Given the description of an element on the screen output the (x, y) to click on. 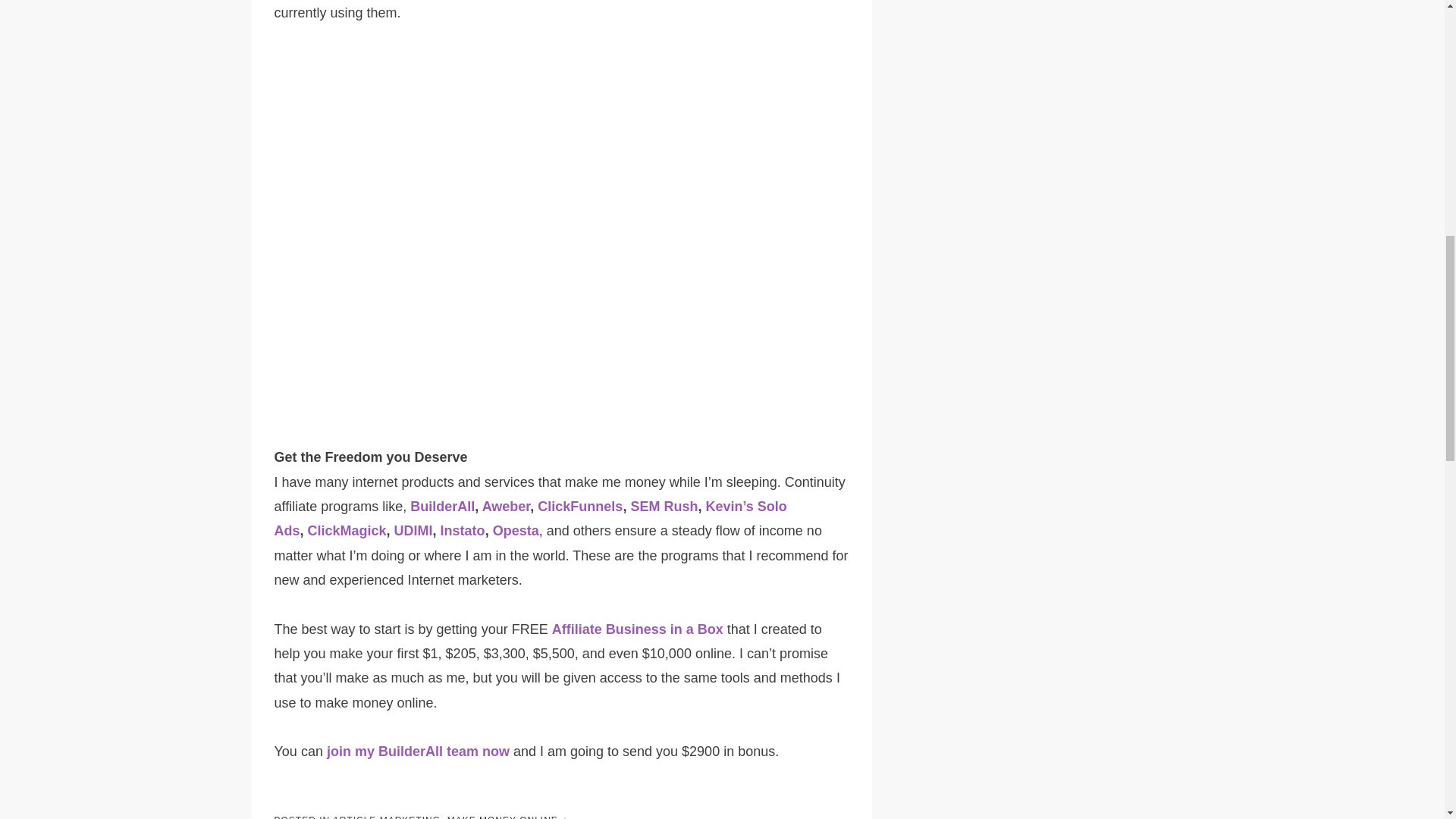
ClickFunnels (580, 506)
Instato (462, 530)
Aweber (506, 506)
BuilderAll (442, 506)
ClickMagick (347, 530)
Affiliate Business in a Box (637, 629)
Opesta (515, 530)
MAKE MONEY ONLINE (501, 816)
UDIMI (413, 530)
SEM Rush (663, 506)
join my BuilderAll team now (417, 751)
ARTICLE MARKETING (387, 816)
